Given the description of an element on the screen output the (x, y) to click on. 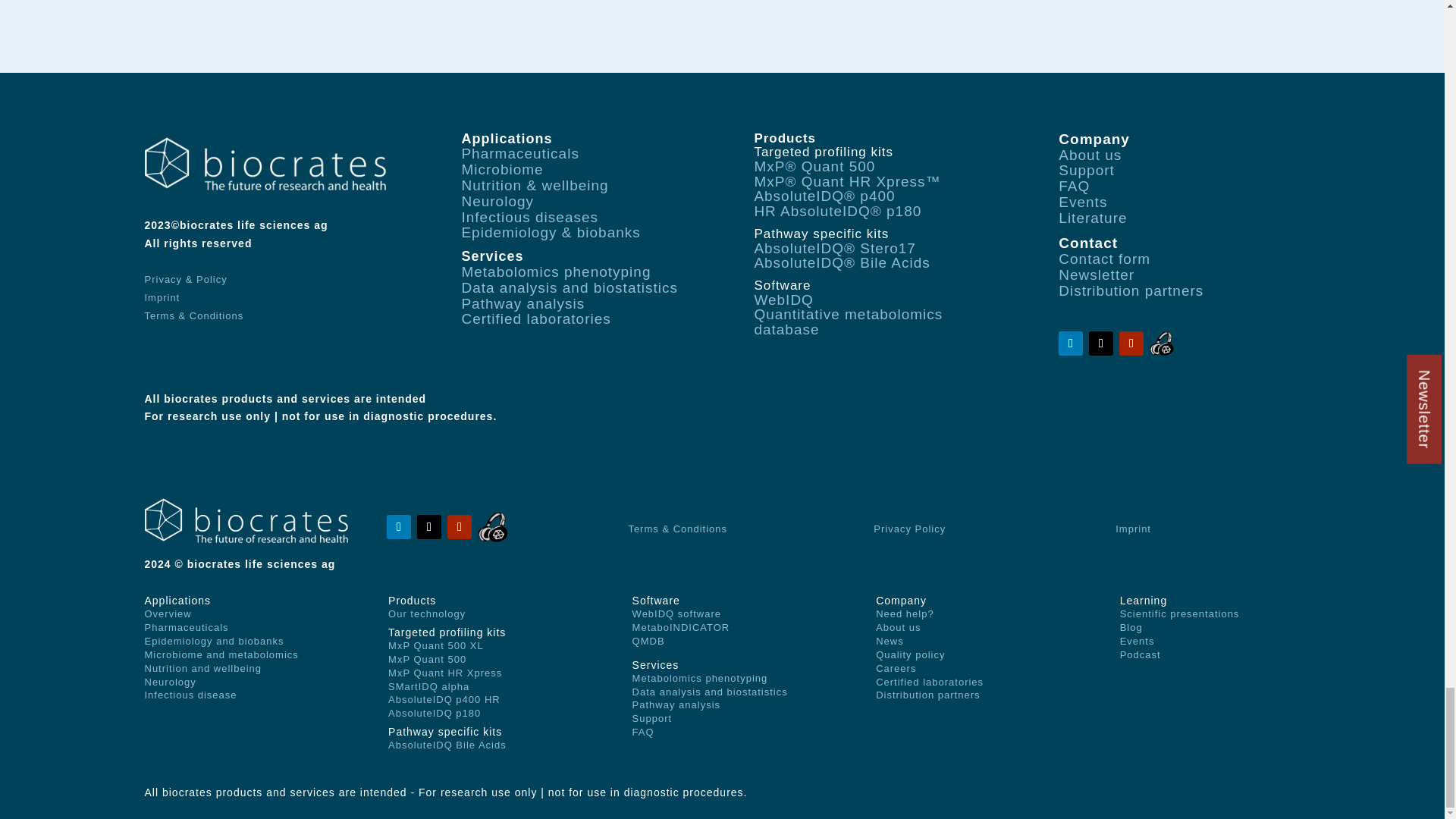
Neurology (497, 201)
Metabolomics phenotyping (555, 271)
Microbiome (502, 169)
biocrates-logo-transparent-white (264, 163)
Imprint (161, 297)
